Given the description of an element on the screen output the (x, y) to click on. 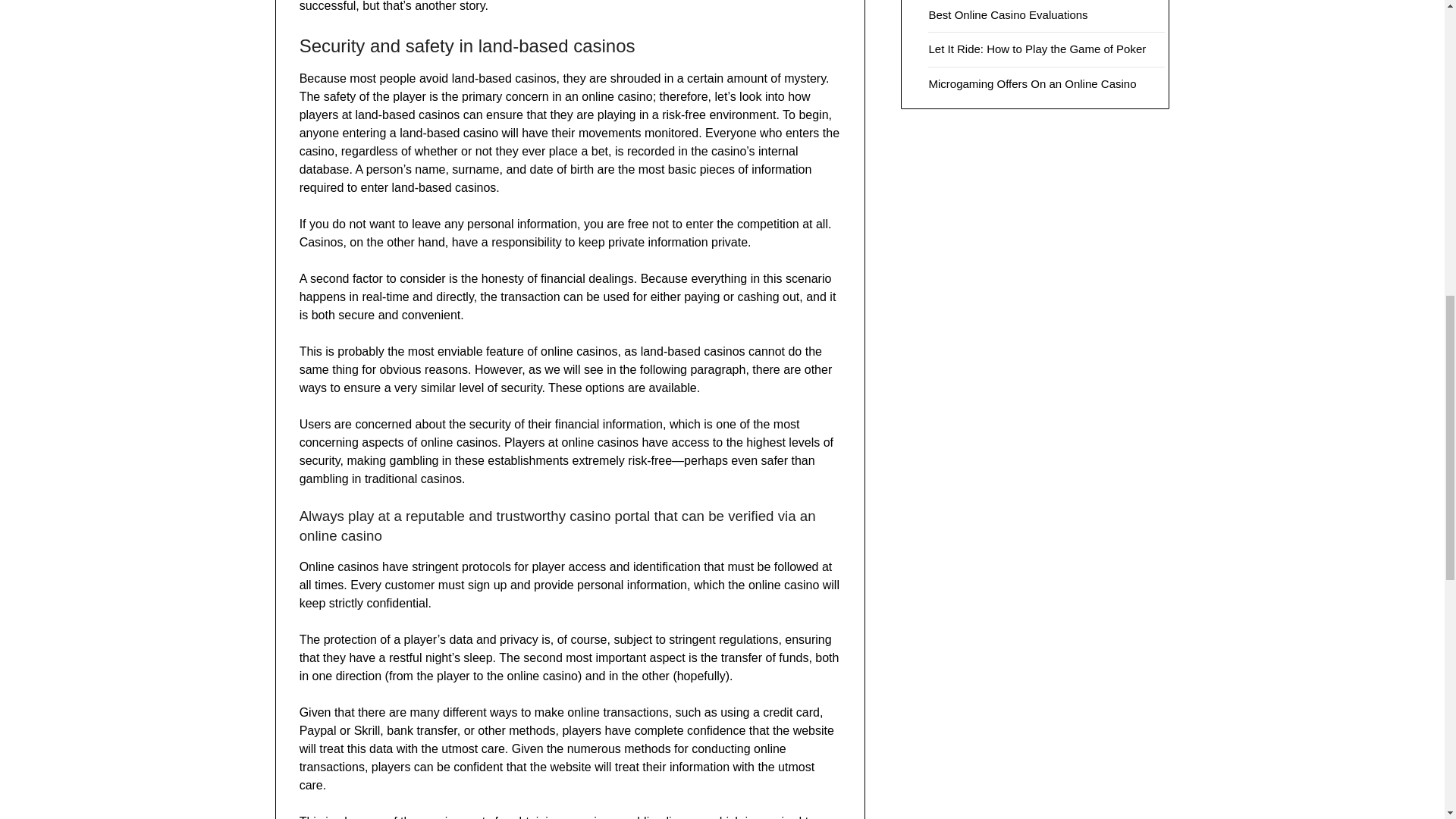
Best Online Casino Evaluations (1007, 14)
Microgaming Offers On an Online Casino (1031, 83)
Let It Ride: How to Play the Game of Poker  (1038, 48)
